Given the description of an element on the screen output the (x, y) to click on. 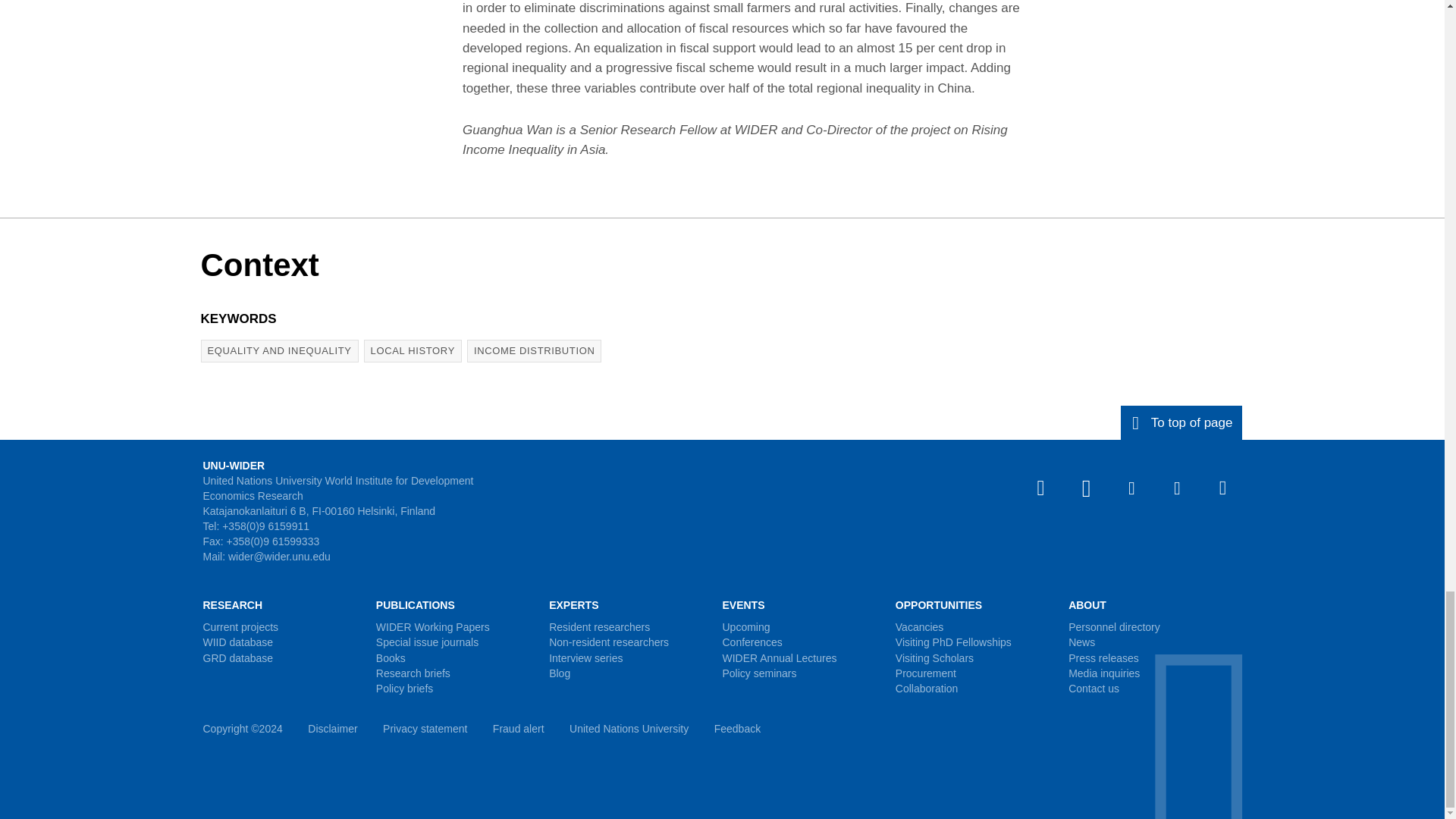
jump to the top of the page (1181, 422)
To top of page (1181, 422)
EQUALITY AND INEQUALITY (279, 350)
To top of page (1181, 422)
